Given the description of an element on the screen output the (x, y) to click on. 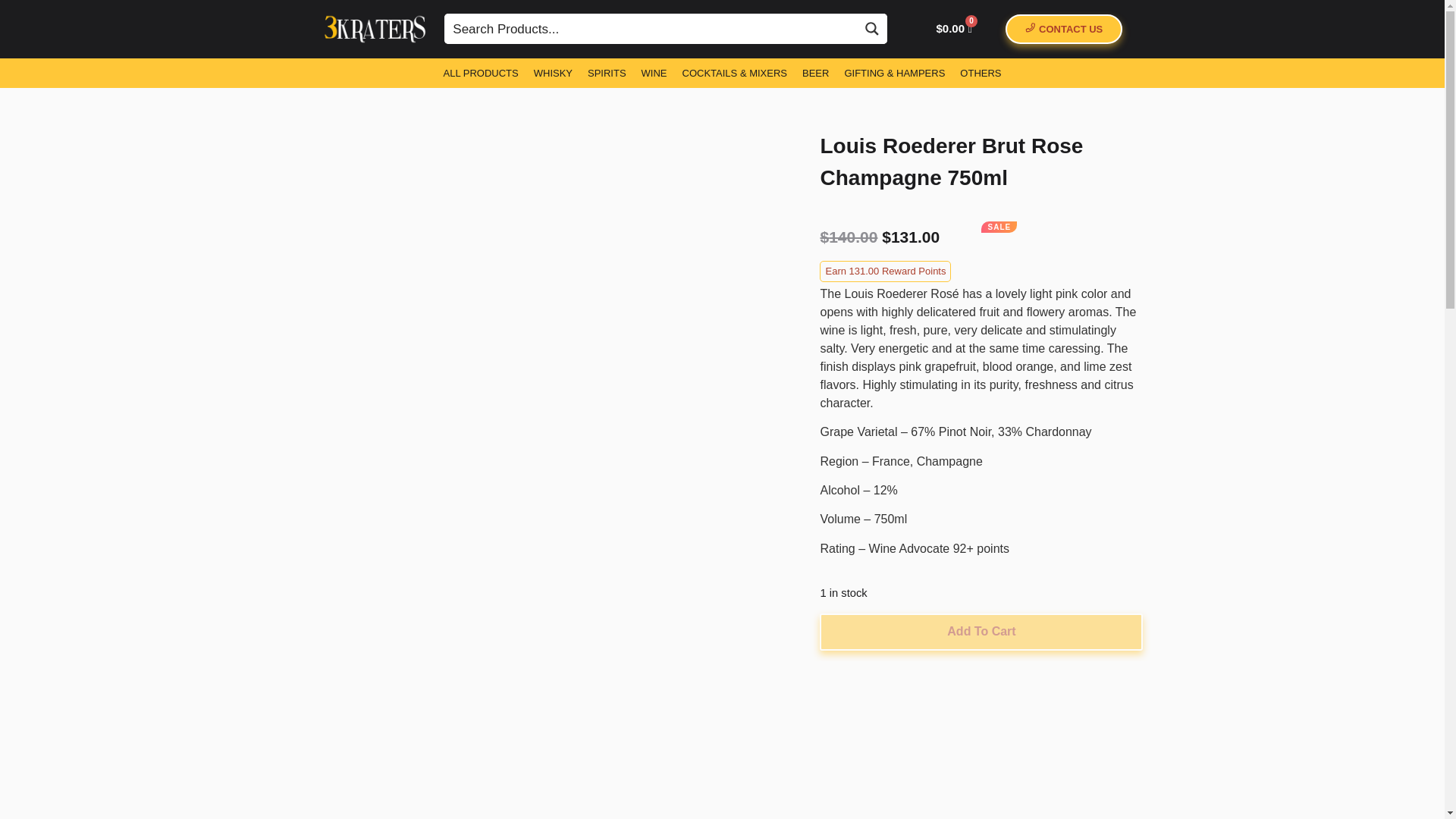
WINE (654, 72)
ALL PRODUCTS (480, 72)
WHISKY (552, 72)
BEER (814, 72)
CONTACT US (1064, 28)
SPIRITS (606, 72)
